Given the description of an element on the screen output the (x, y) to click on. 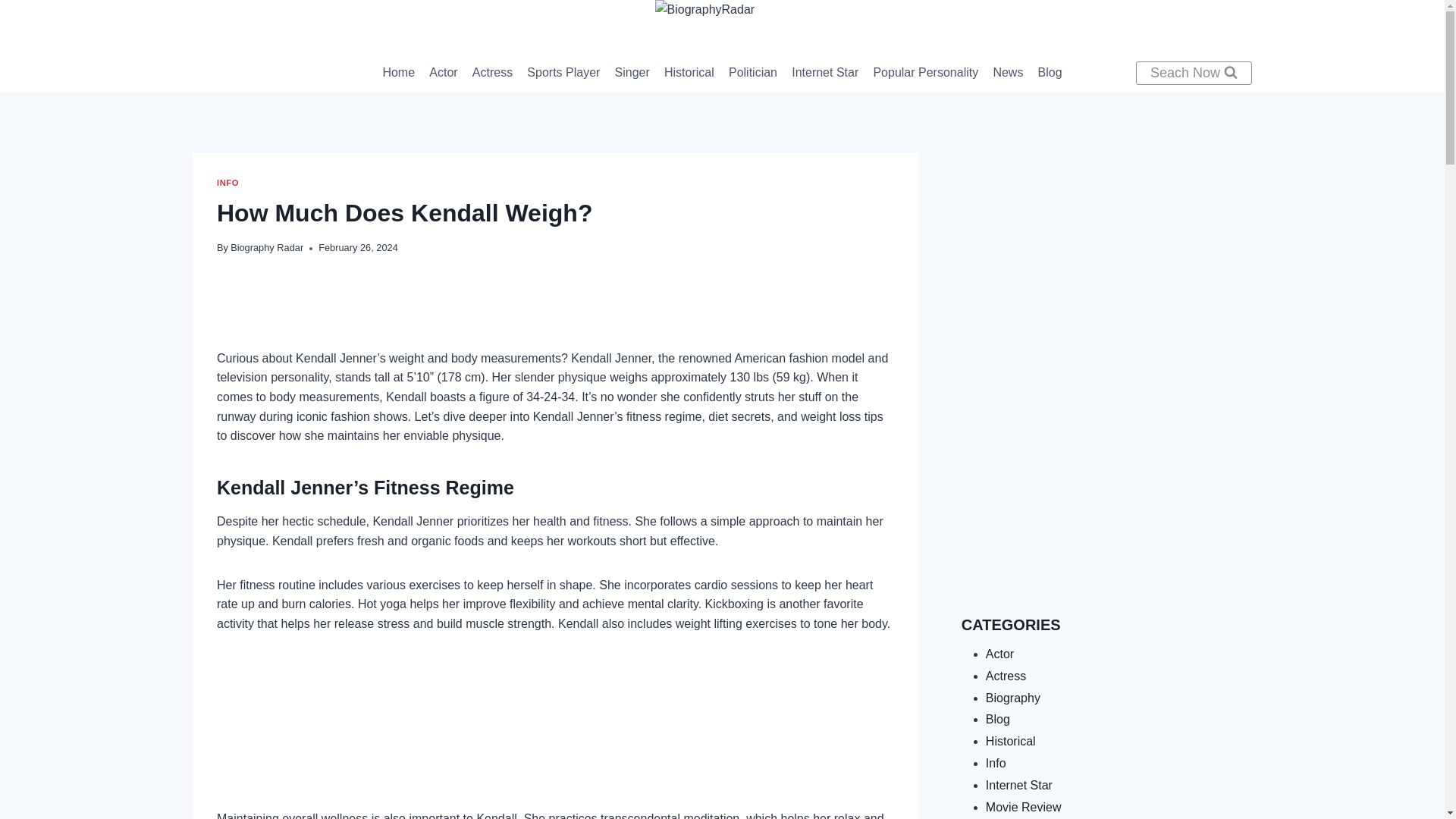
News (1007, 72)
Internet Star (825, 72)
Actress (491, 72)
Actor (443, 72)
Home (398, 72)
Blog (1049, 72)
Singer (631, 72)
Historical (688, 72)
INFO (227, 182)
Sports Player (563, 72)
Biography Radar (266, 247)
Popular Personality (925, 72)
Seach Now (1193, 73)
Politician (752, 72)
